Given the description of an element on the screen output the (x, y) to click on. 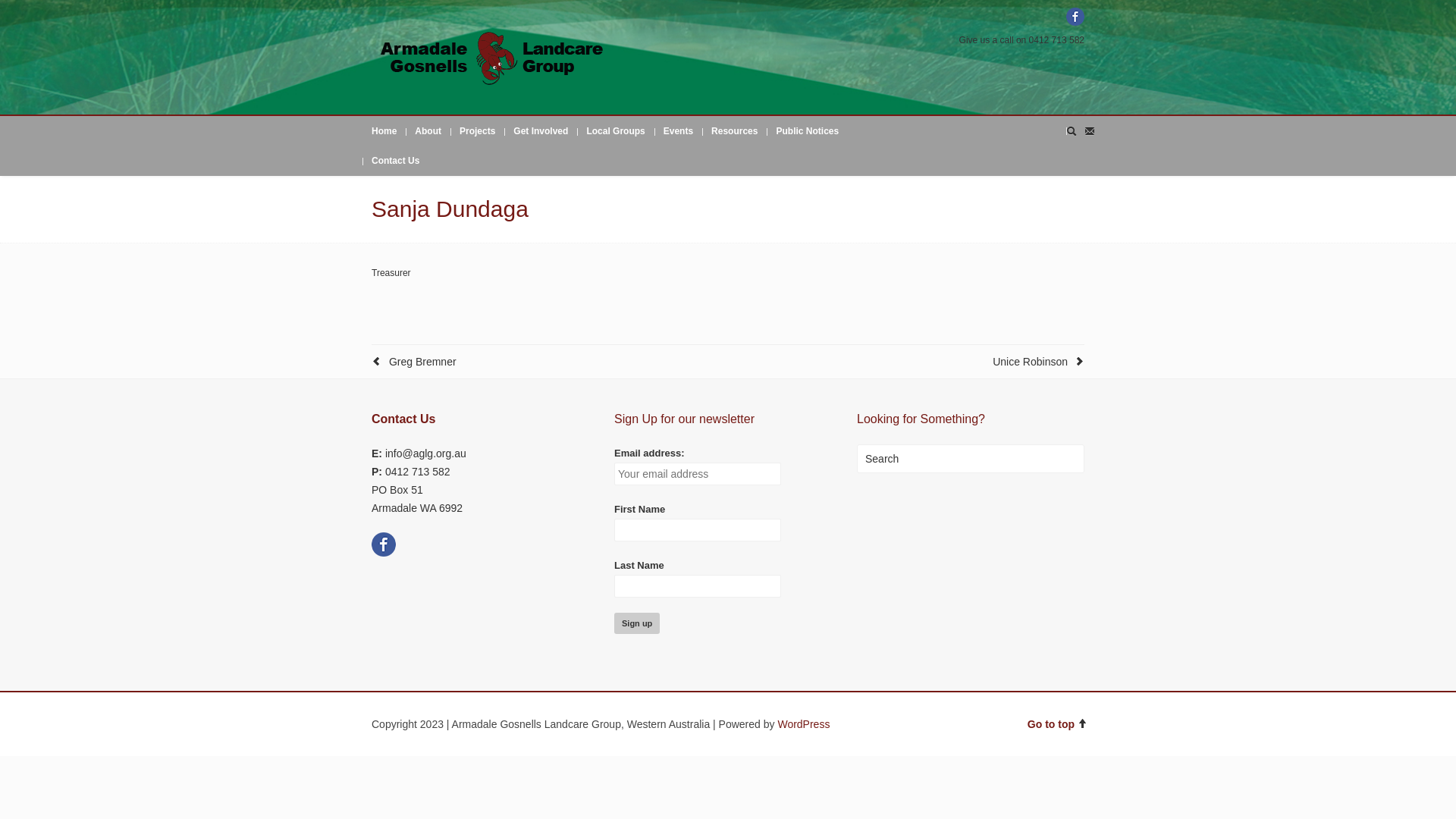
Unice Robinson Element type: text (1029, 361)
About Element type: text (427, 131)
Public Notices Element type: text (806, 131)
Get Involved Element type: text (540, 131)
Greg Bremner Element type: text (422, 361)
Contact Us Element type: text (395, 160)
Search Element type: text (970, 458)
Projects Element type: text (477, 131)
Contact Us Element type: text (403, 418)
Go to top Element type: text (1057, 724)
Sign up Element type: text (636, 622)
Home Element type: text (383, 131)
Facebook Element type: text (1075, 16)
Resources Element type: text (734, 131)
Events Element type: text (678, 131)
Facebook Element type: text (383, 555)
WordPress Element type: text (803, 724)
Local Groups Element type: text (615, 131)
